Given the description of an element on the screen output the (x, y) to click on. 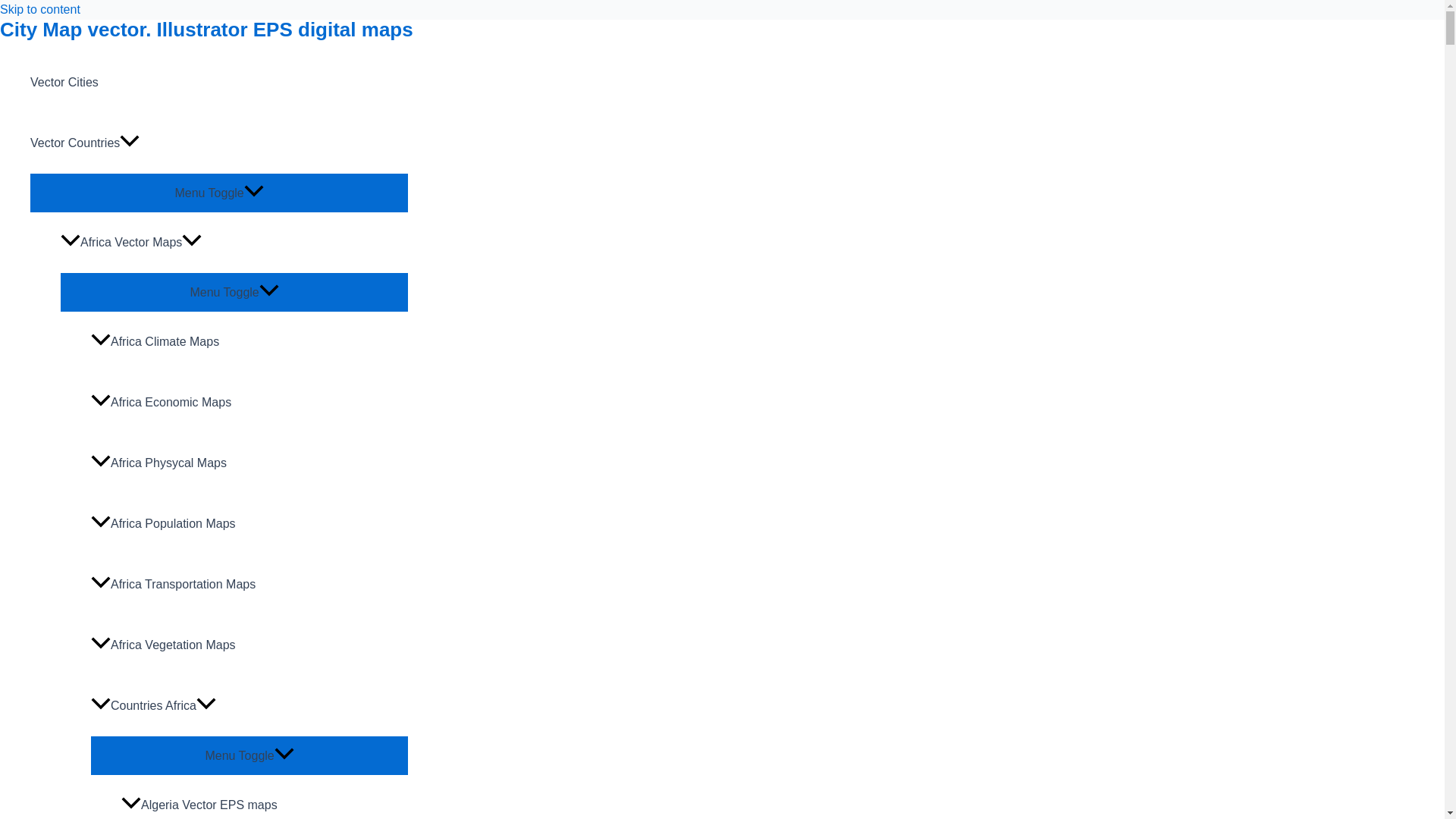
Menu Toggle (218, 191)
Menu Toggle (234, 291)
Vector Countries (218, 143)
Africa Economic Maps (248, 402)
Africa Vector Maps (234, 242)
Skip to content (40, 9)
Vector Cities (218, 82)
Countries Africa (248, 705)
Menu Toggle (248, 754)
Africa Transportation Maps (248, 584)
Algeria Vector EPS maps (263, 796)
City Map vector. Illustrator EPS digital maps (206, 29)
Africa Vegetation Maps (248, 645)
Skip to content (40, 9)
Africa Climate Maps (248, 342)
